Given the description of an element on the screen output the (x, y) to click on. 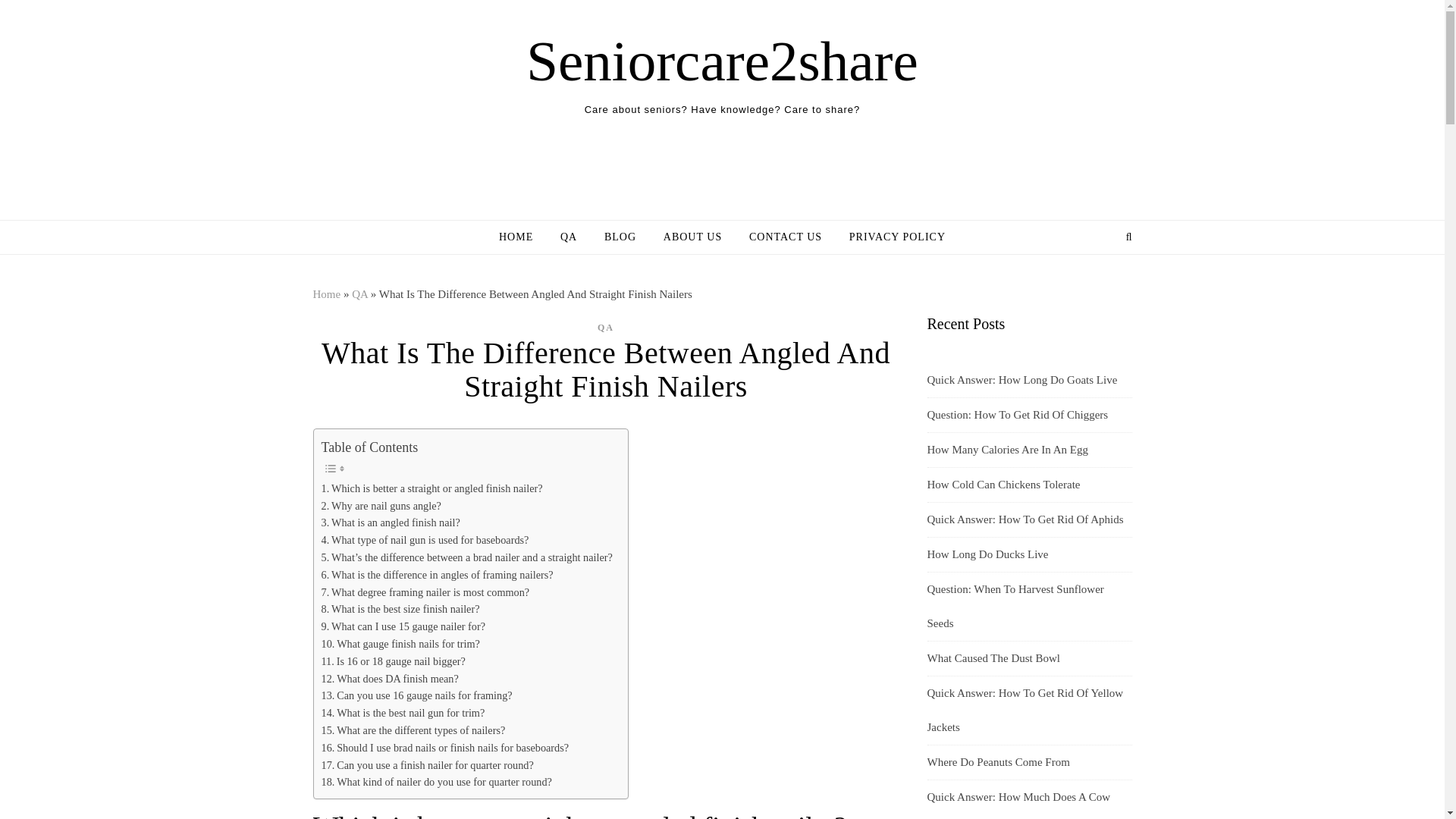
Can you use a finish nailer for quarter round? (427, 764)
What is the best size finish nailer? (400, 609)
Why are nail guns angle? (381, 506)
What is an angled finish nail? (390, 522)
What is the best nail gun for trim? (402, 712)
Should I use brad nails or finish nails for baseboards? (445, 747)
Seniorcare2share (721, 60)
CONTACT US (785, 236)
Which is better a straight or angled finish nailer? (432, 488)
Can you use 16 gauge nails for framing? (416, 695)
PRIVACY POLICY (890, 236)
What degree framing nailer is most common? (425, 592)
Why are nail guns angle? (381, 506)
HOME (521, 236)
What is the difference in angles of framing nailers? (437, 574)
